Given the description of an element on the screen output the (x, y) to click on. 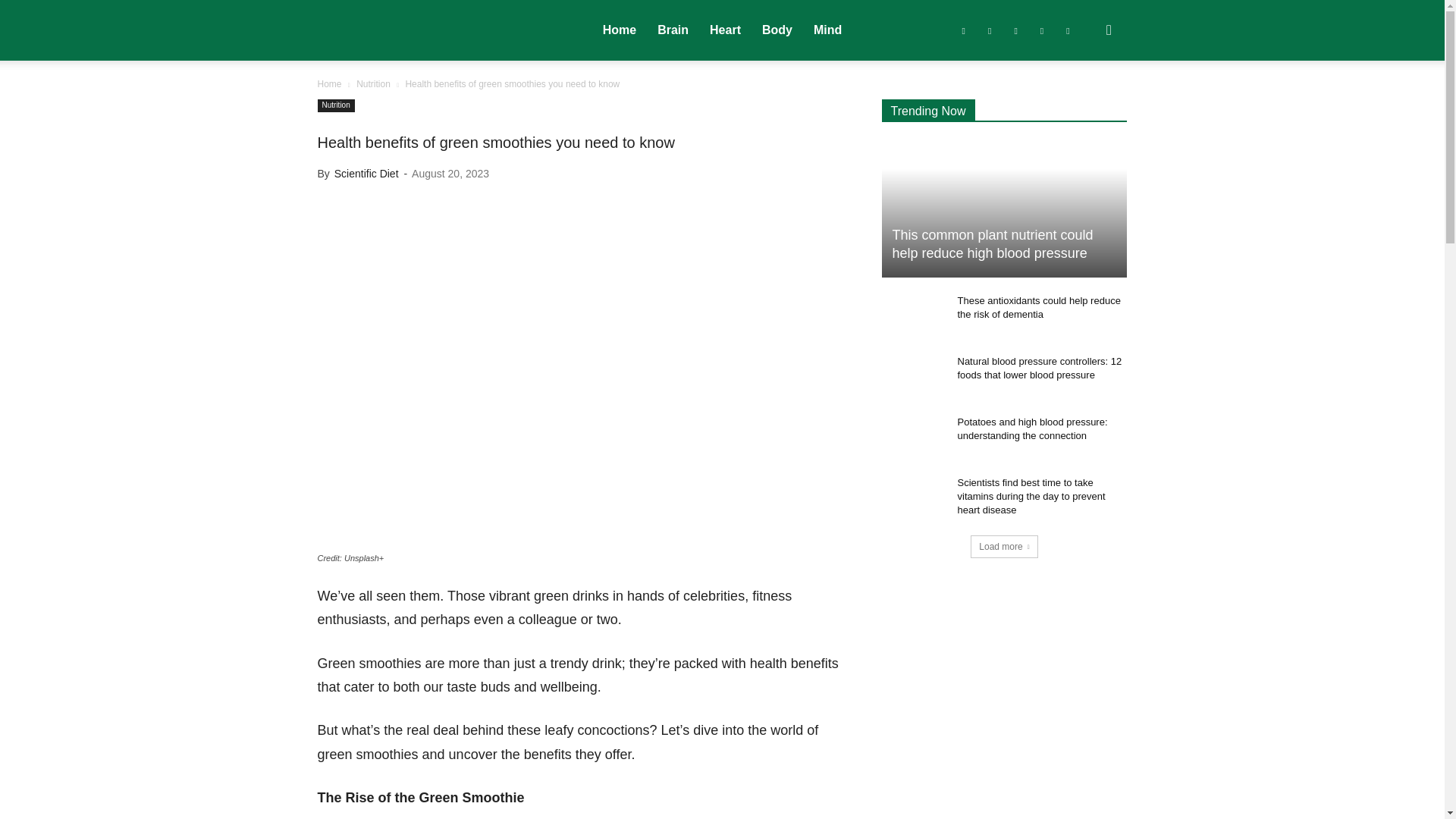
Home (328, 83)
Search (1085, 102)
View all posts in Nutrition (373, 83)
Nutrition (335, 105)
Scientific Diet (366, 173)
Home (619, 30)
Nutrition (373, 83)
